Given the description of an element on the screen output the (x, y) to click on. 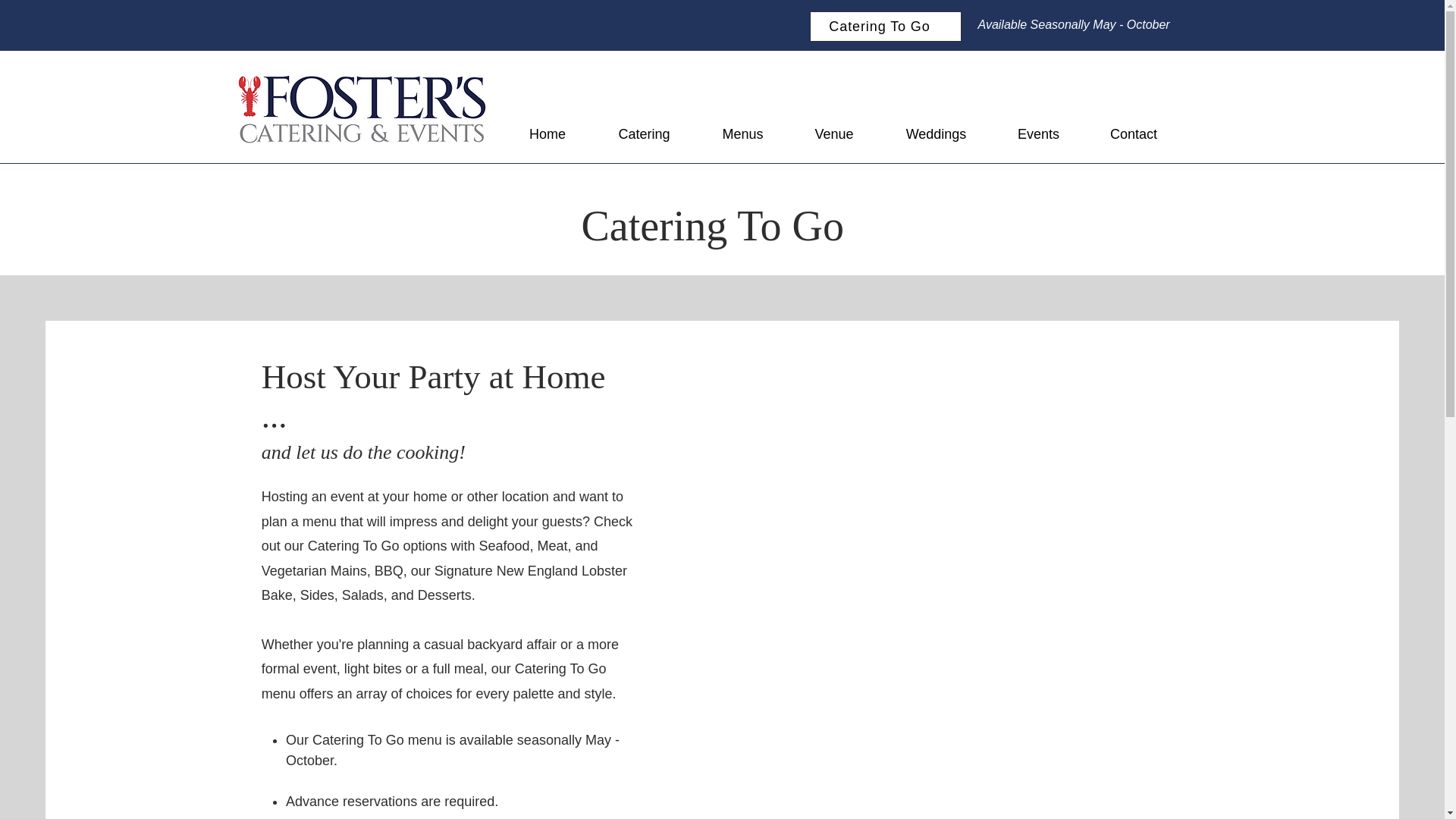
Catering To Go (884, 26)
Contact (1132, 134)
Venue (833, 134)
Catering (643, 134)
Events (1037, 134)
Weddings (934, 134)
Home (547, 134)
